Given the description of an element on the screen output the (x, y) to click on. 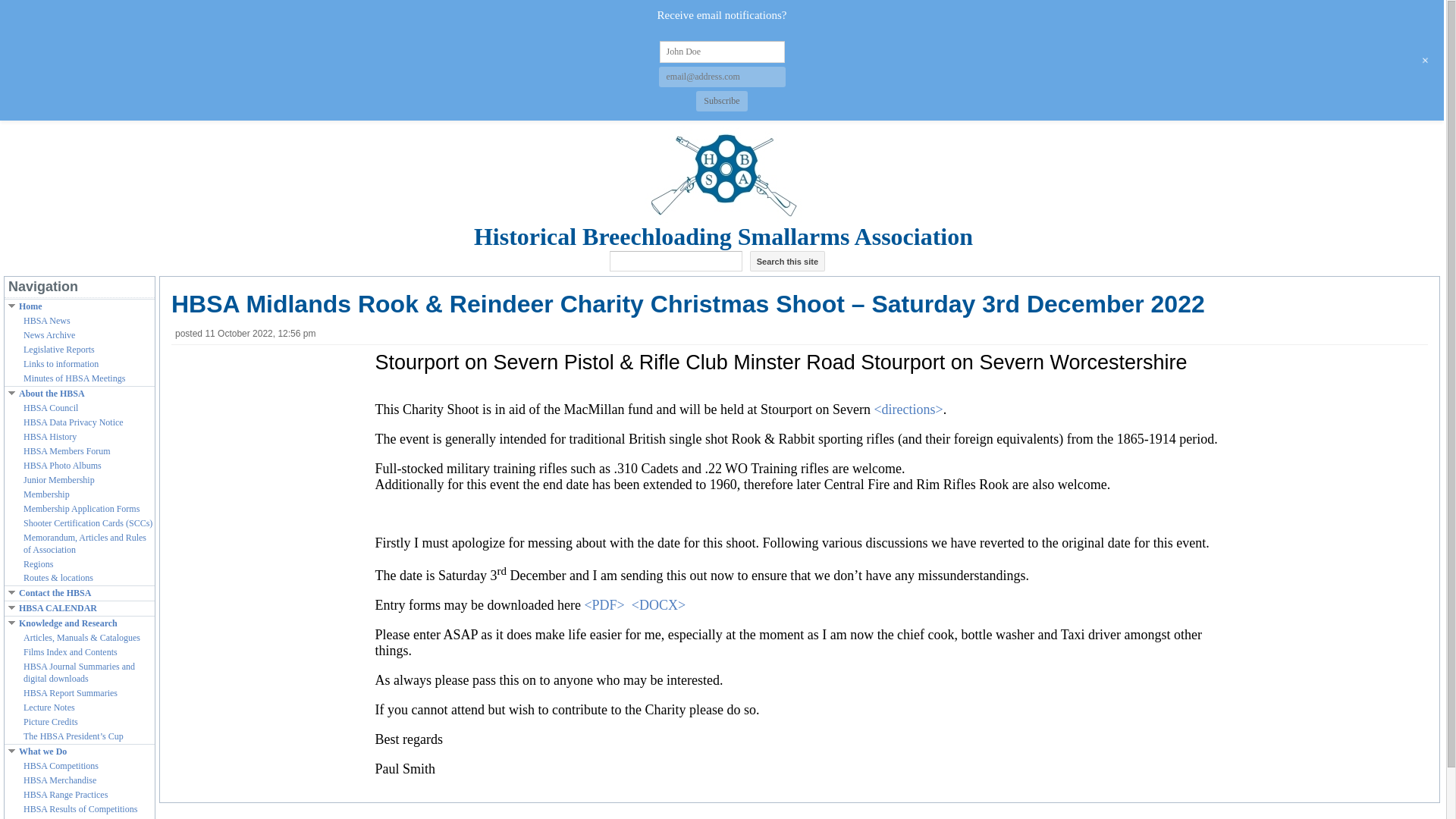
Contact the HBSA (86, 593)
HBSA Journal Summaries and digital downloads (88, 672)
HBSA Results of Competitions (88, 809)
HBSA Council (88, 408)
Junior Membership (88, 480)
Historical Breechloading Smallarms Association (723, 236)
HBSA Members Forum (88, 451)
HBSA Competitions (88, 766)
Lecture Notes (88, 707)
Home (86, 306)
Membership (88, 494)
HBSA CALENDAR (86, 608)
Subscribe (720, 100)
What we Do (86, 752)
HBSA Merchandise (88, 780)
